Given the description of an element on the screen output the (x, y) to click on. 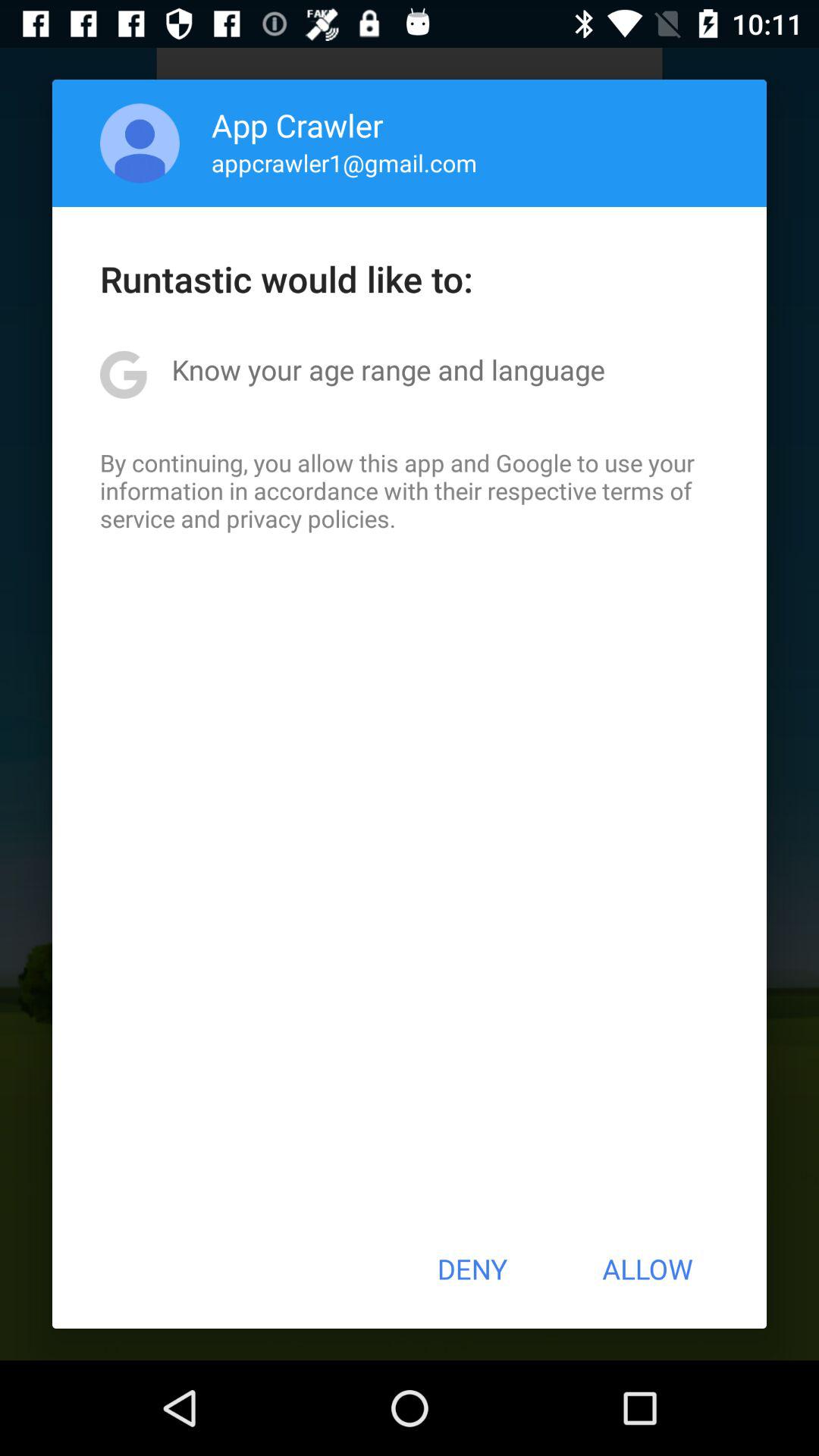
click the item below the by continuing you icon (471, 1268)
